Given the description of an element on the screen output the (x, y) to click on. 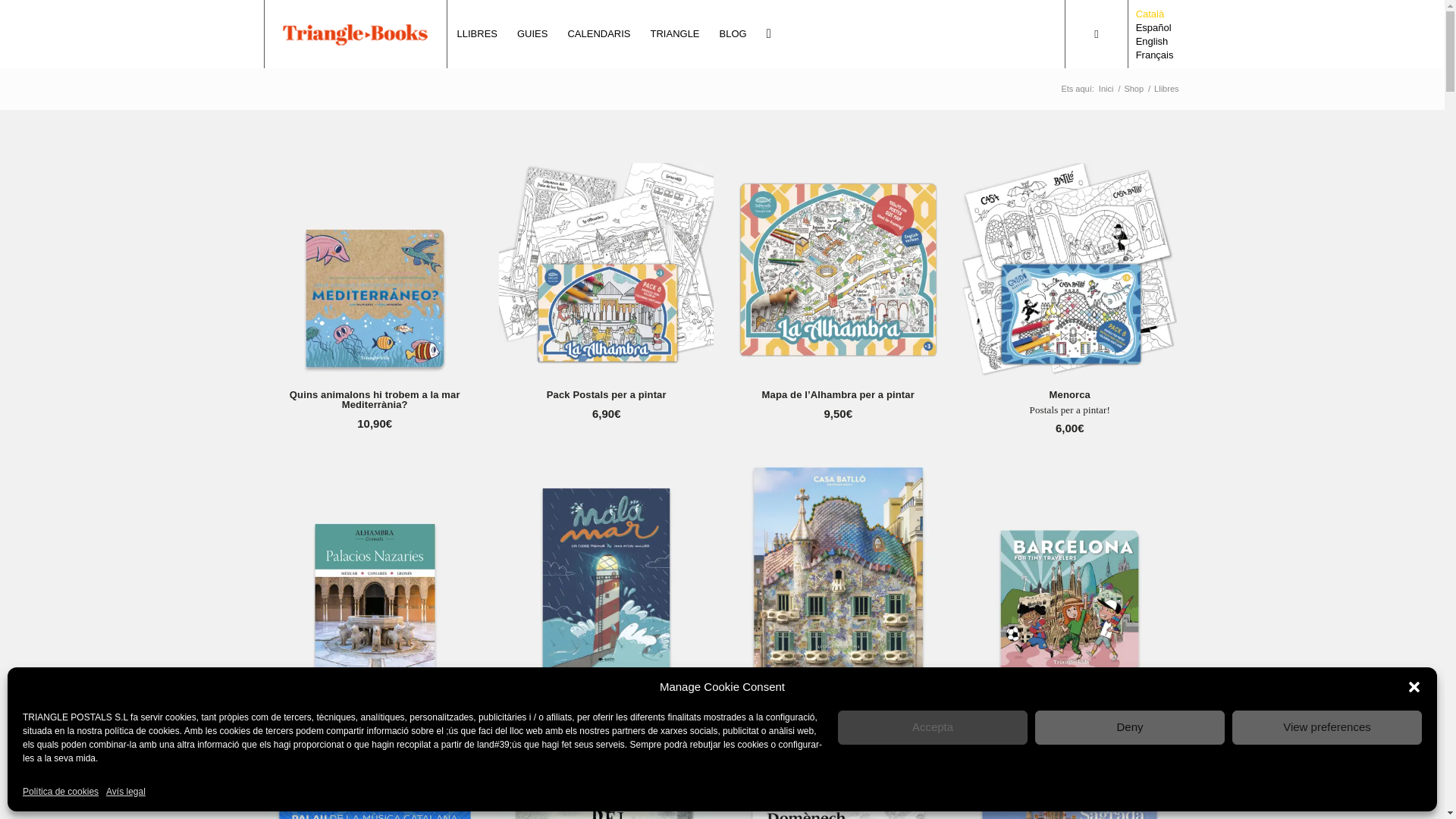
View preferences (1326, 727)
Menorca (1069, 269)
Shop (1133, 89)
Pack Postals per a pintar (606, 269)
Accepta (932, 727)
Mala mar (606, 571)
Deny (1129, 727)
Triangle Editorial (1106, 89)
Barcelona (1069, 571)
Alhambra. Palaus Nassarites (373, 571)
